Given the description of an element on the screen output the (x, y) to click on. 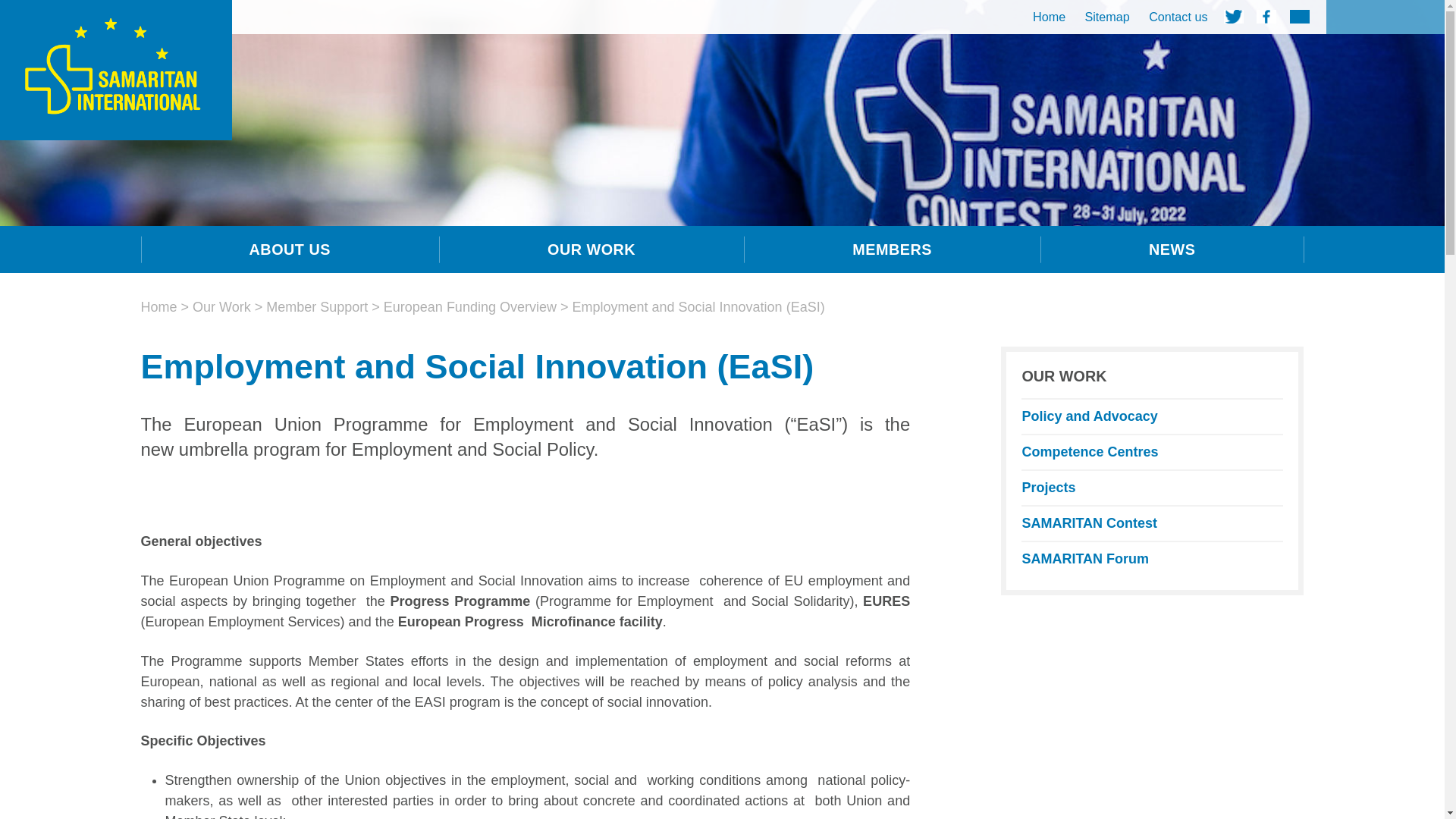
ABOUT US (290, 249)
OUR WORK (591, 249)
Sitemap (1107, 16)
About us (290, 249)
Contact us (1178, 16)
Home (1049, 16)
